Given the description of an element on the screen output the (x, y) to click on. 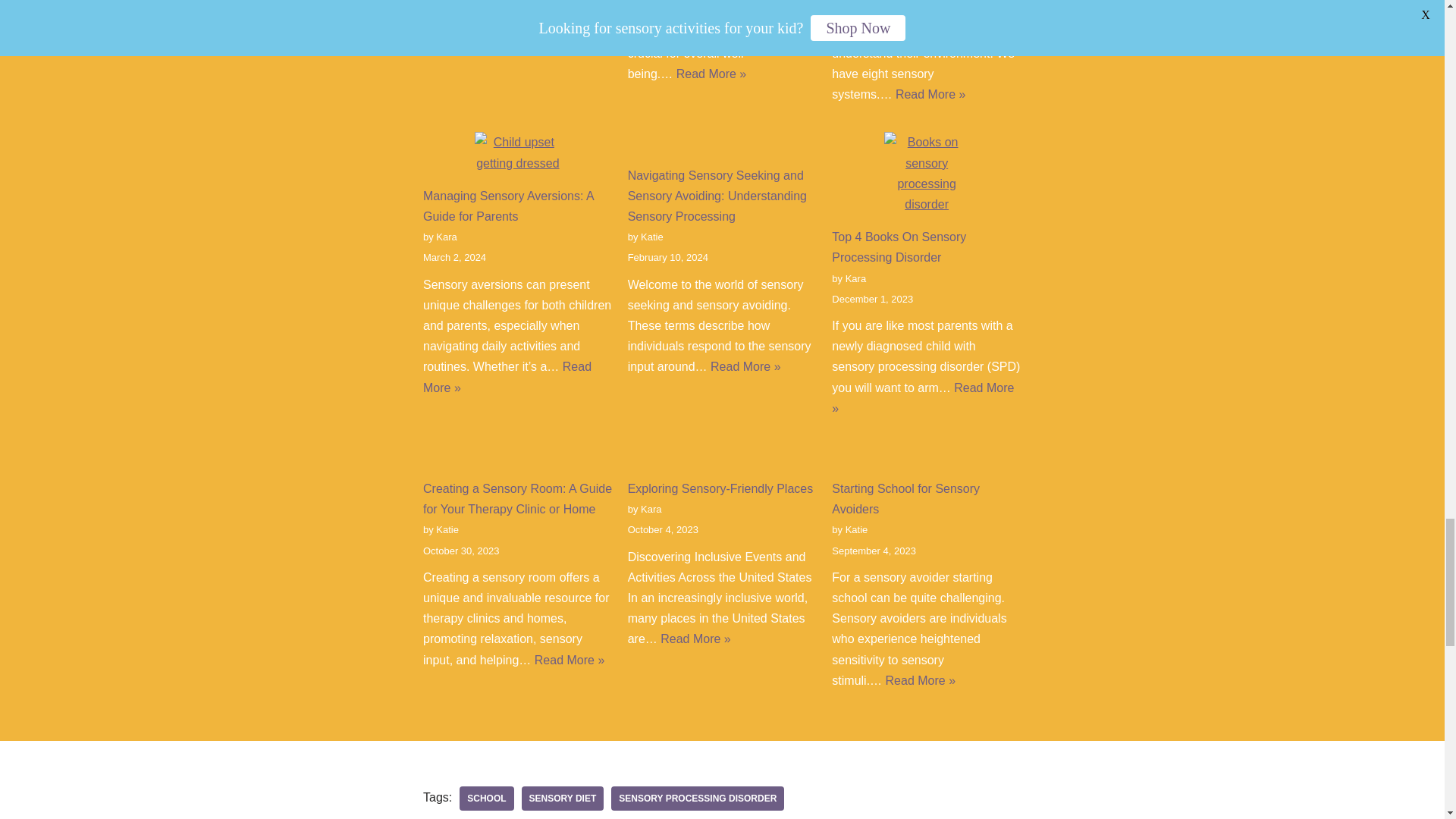
sensory diet (562, 798)
School (486, 798)
Sensory processing disorder (697, 798)
